Given the description of an element on the screen output the (x, y) to click on. 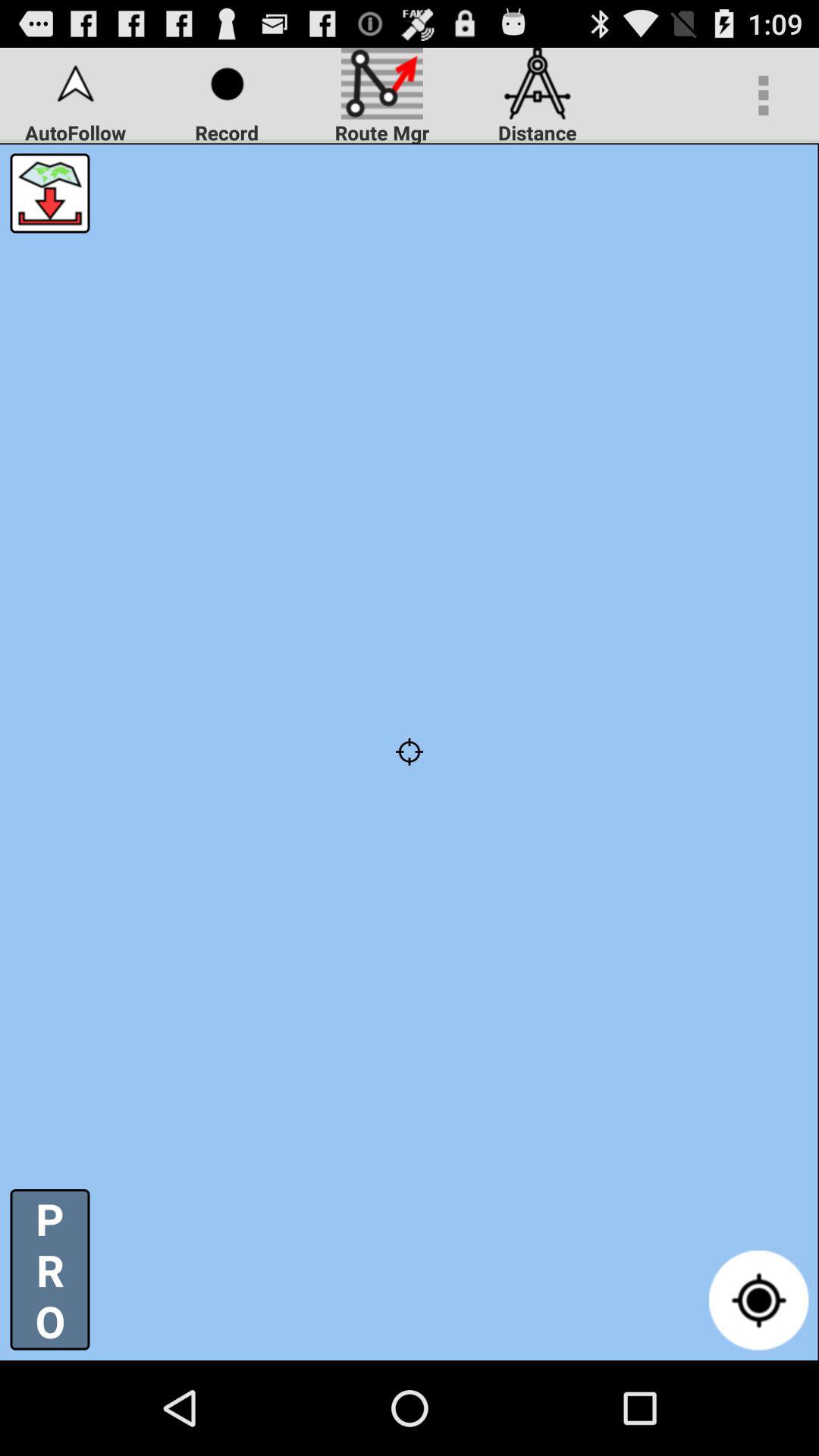
open icon next to the record icon (49, 193)
